Given the description of an element on the screen output the (x, y) to click on. 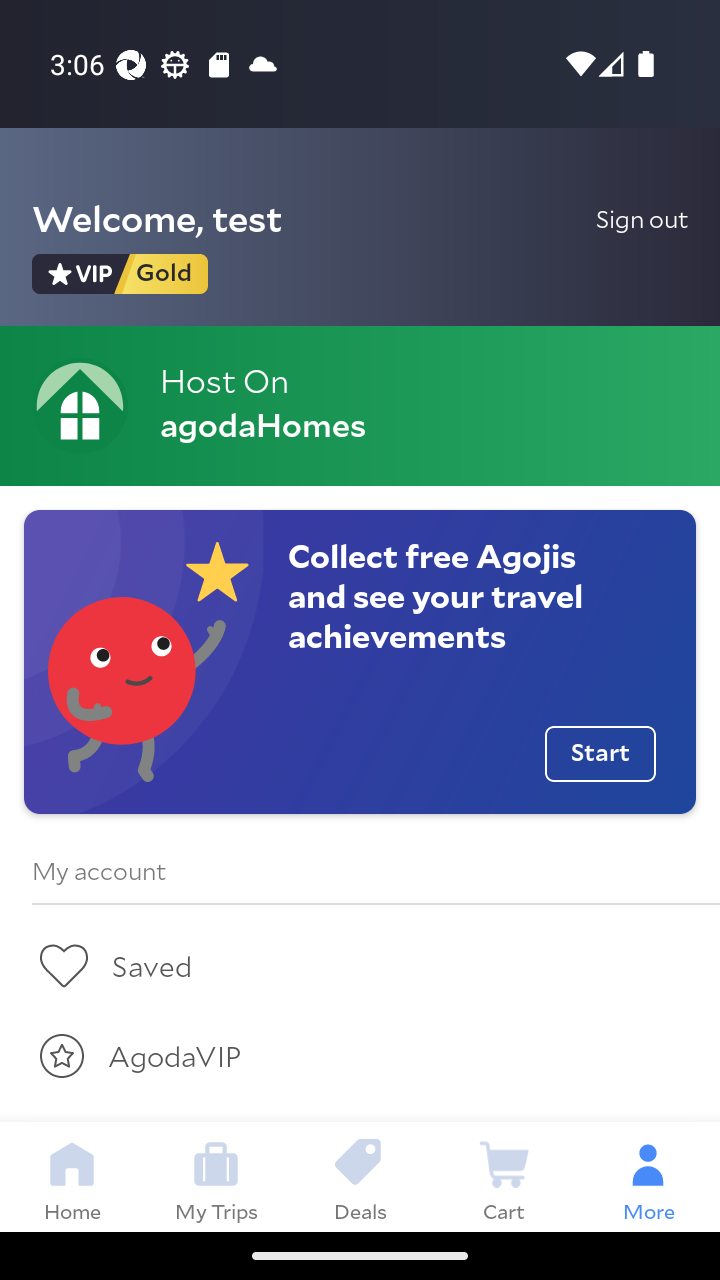
Sign out (642, 218)
Host On agodaHomes (360, 406)
Start  Start (600, 753)
Home (72, 1176)
My Trips (216, 1176)
Deals (360, 1176)
Cart (504, 1176)
More (648, 1176)
